Given the description of an element on the screen output the (x, y) to click on. 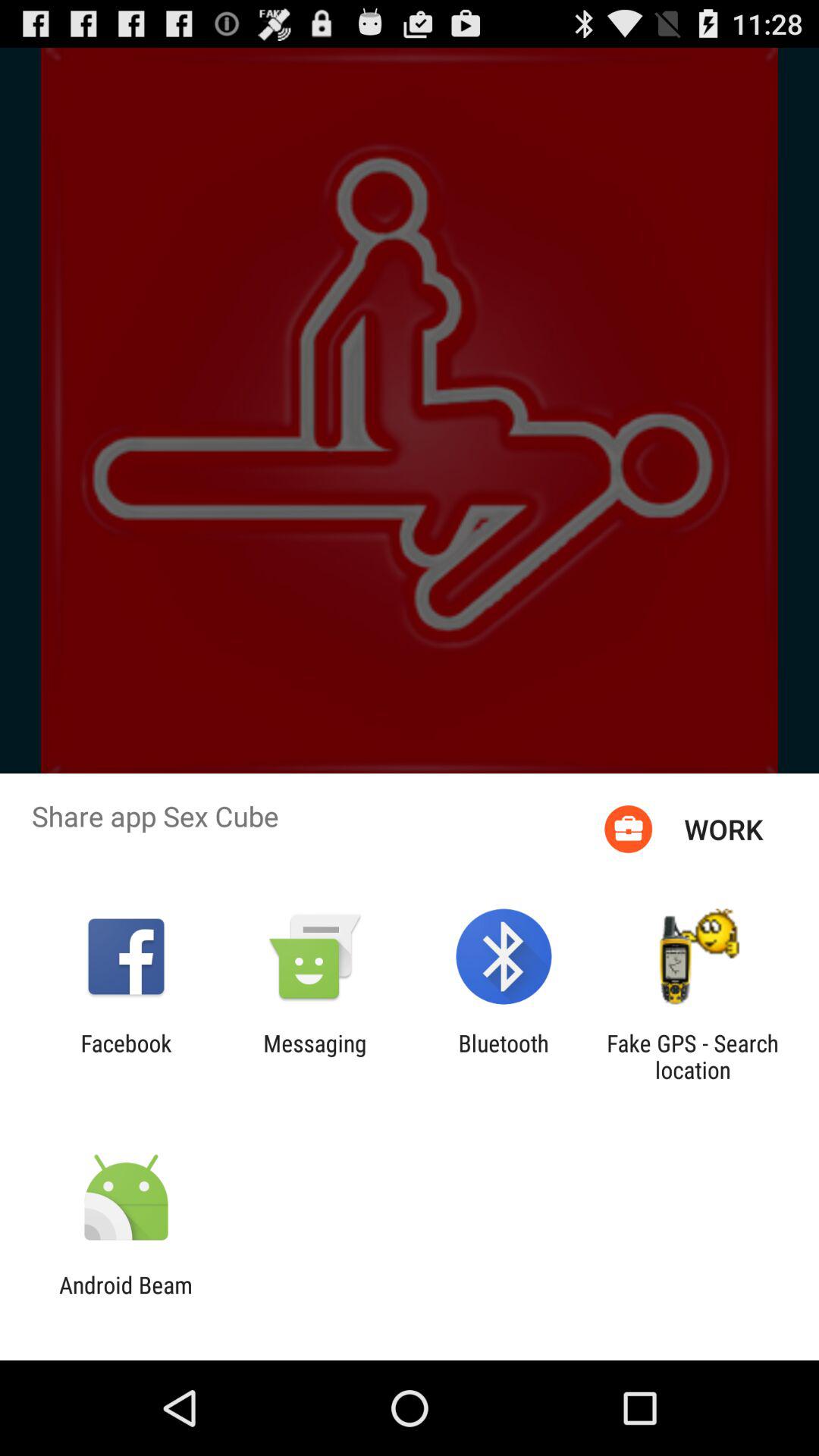
select android beam (125, 1298)
